Given the description of an element on the screen output the (x, y) to click on. 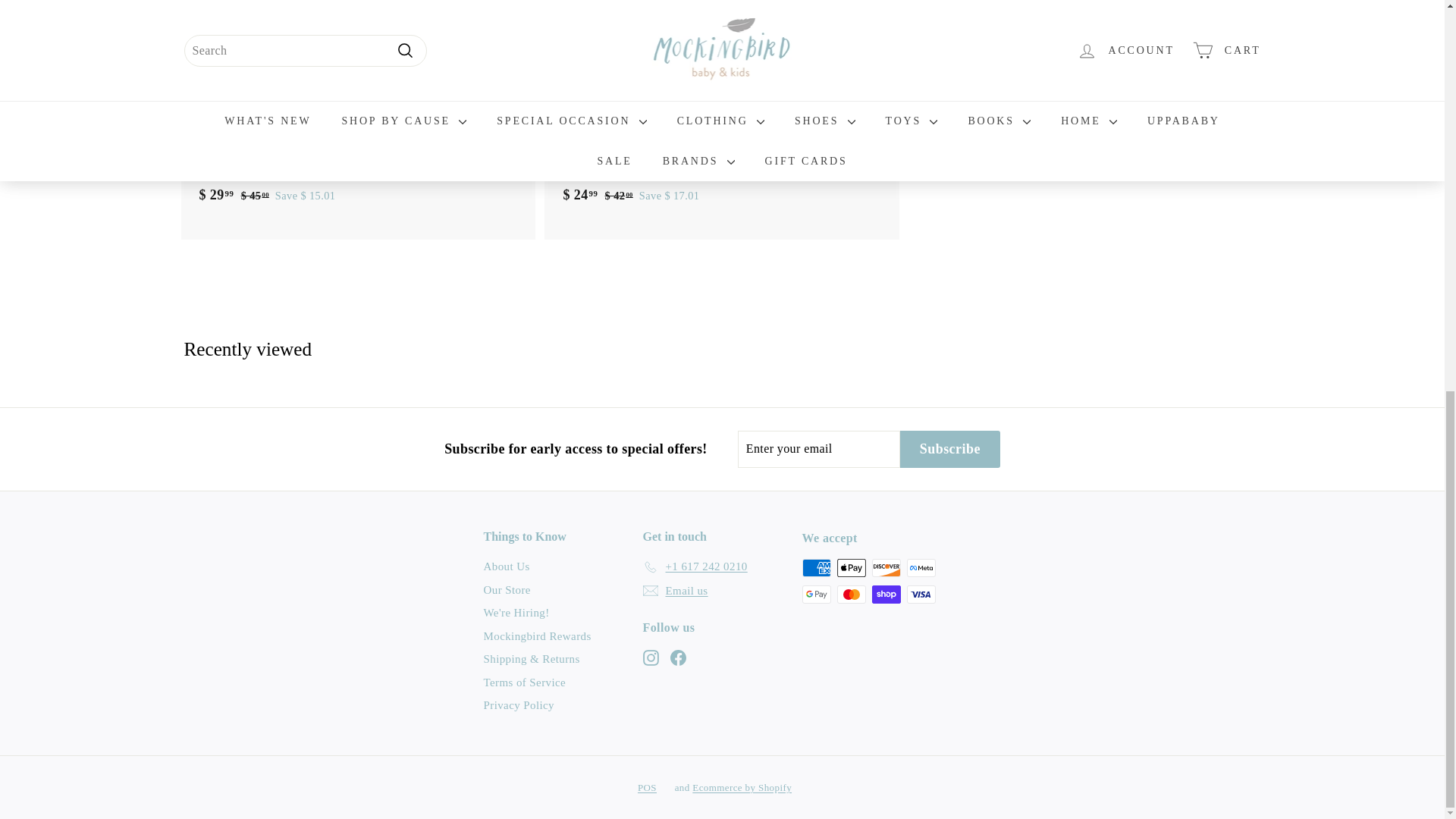
Apple Pay (851, 567)
American Express (816, 567)
instagram (651, 657)
